Given the description of an element on the screen output the (x, y) to click on. 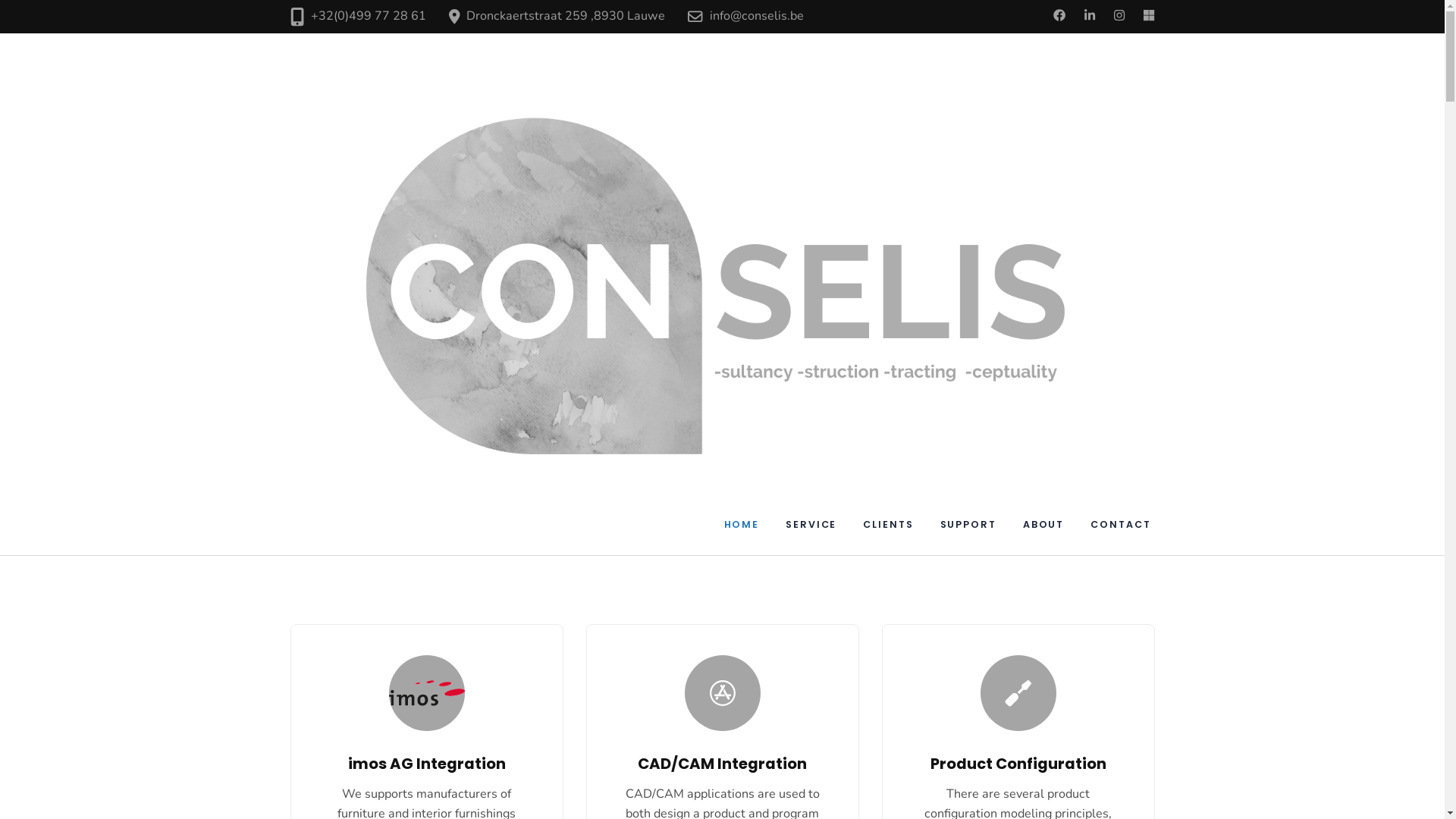
info@conselis.be Element type: text (756, 15)
CLIENTS Element type: text (887, 524)
+32(0)499 77 28 61 Element type: text (368, 15)
SERVICE Element type: text (810, 524)
SUPPORT Element type: text (968, 524)
Conselis Element type: text (1188, 66)
HOME Element type: text (741, 524)
ABOUT Element type: text (1043, 524)
CONTACT Element type: text (1120, 524)
